Given the description of an element on the screen output the (x, y) to click on. 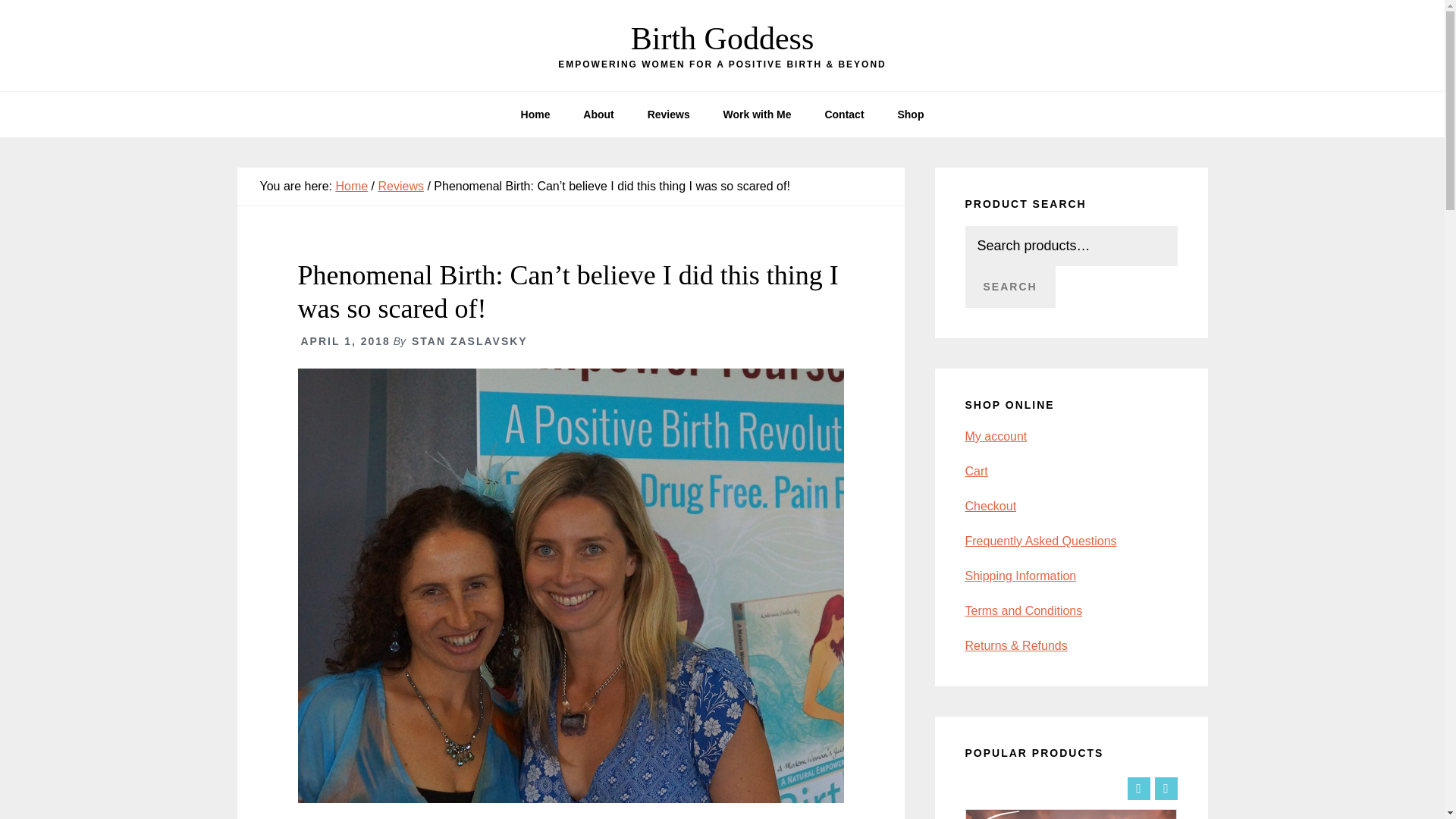
Shop (910, 114)
Cart (975, 471)
Frequently Asked Questions (1039, 540)
Work with Me (756, 114)
Checkout (989, 505)
Terms and Conditions (1022, 610)
Home (535, 114)
About (597, 114)
Shipping Information (1019, 575)
